Given the description of an element on the screen output the (x, y) to click on. 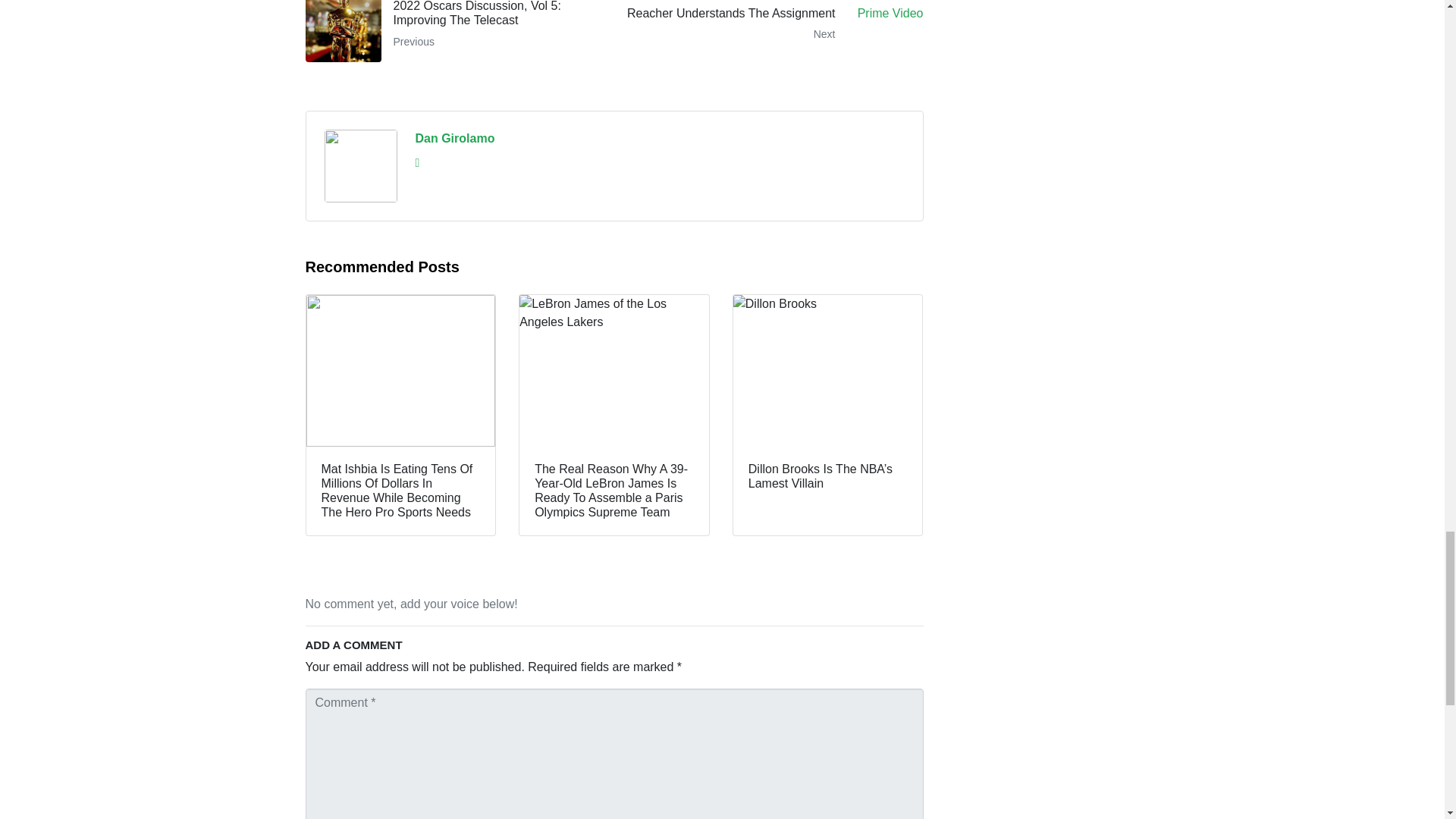
2022 Oscars Discussion, Vol 5: Improving The Telecast (454, 31)
Reacher Understands The Assignment (774, 31)
